Given the description of an element on the screen output the (x, y) to click on. 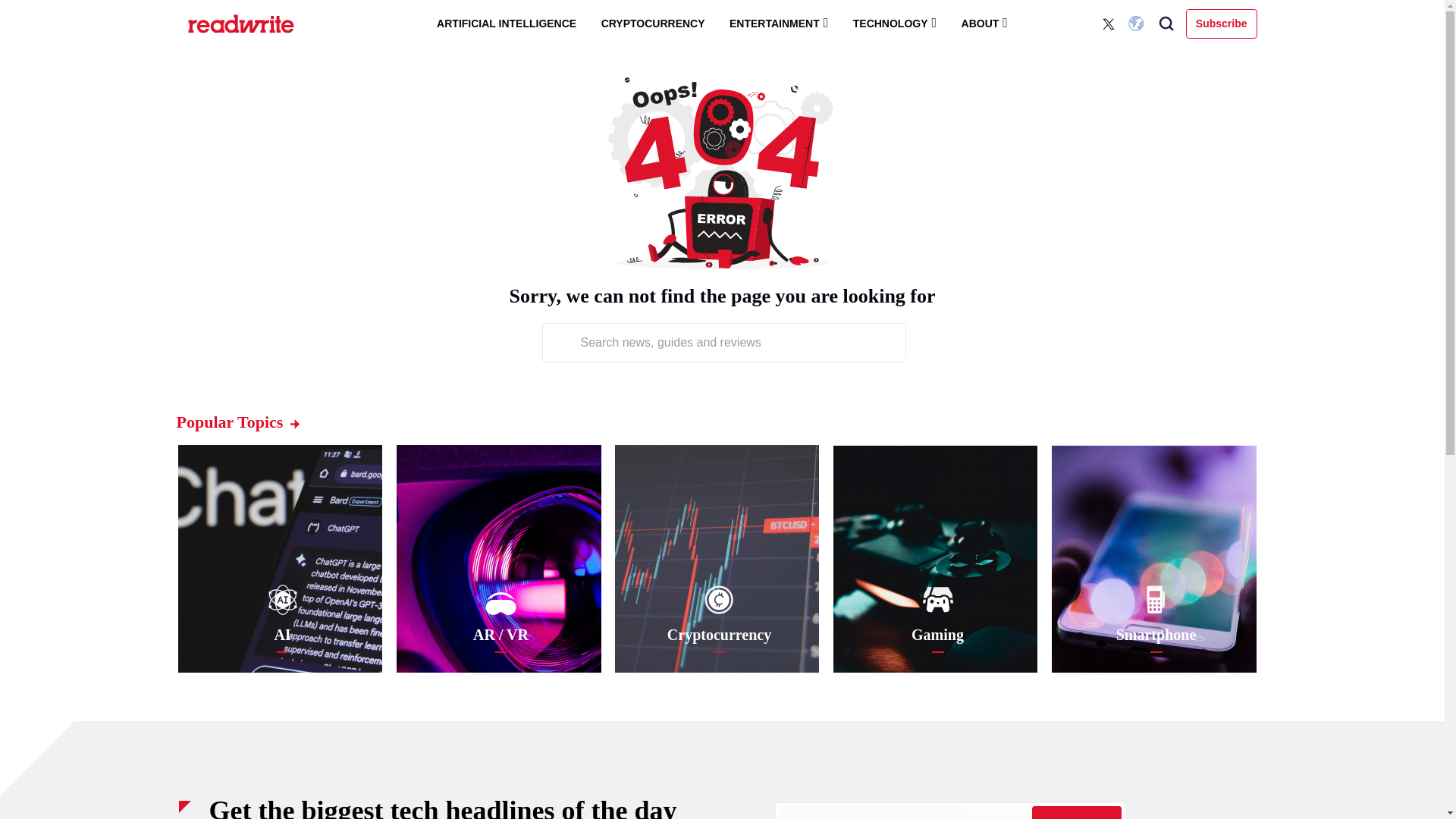
Subscribe (1075, 812)
ENTERTAINMENT (778, 23)
ABOUT (983, 23)
CRYPTOCURRENCY (653, 23)
TECHNOLOGY (895, 23)
Subscribe (1221, 23)
ARTIFICIAL INTELLIGENCE (506, 23)
English (1137, 23)
